Given the description of an element on the screen output the (x, y) to click on. 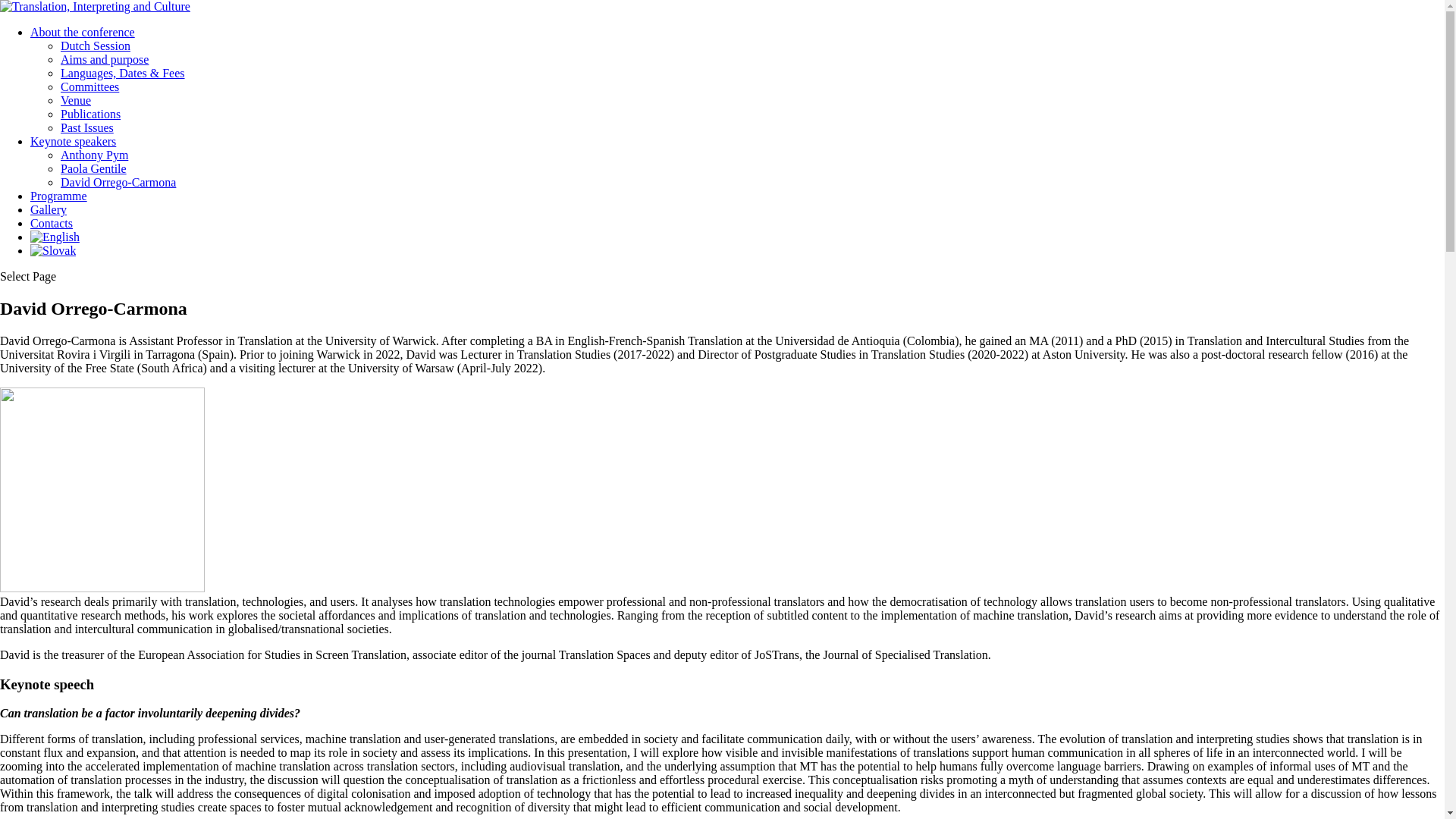
David Orrego-Carmona (118, 182)
Paola Gentile (93, 168)
Dutch Session (96, 45)
Contacts (51, 223)
About the conference (82, 31)
Committees (90, 86)
Programme (58, 195)
Publications (90, 113)
Venue (75, 100)
Gallery (48, 209)
